Given the description of an element on the screen output the (x, y) to click on. 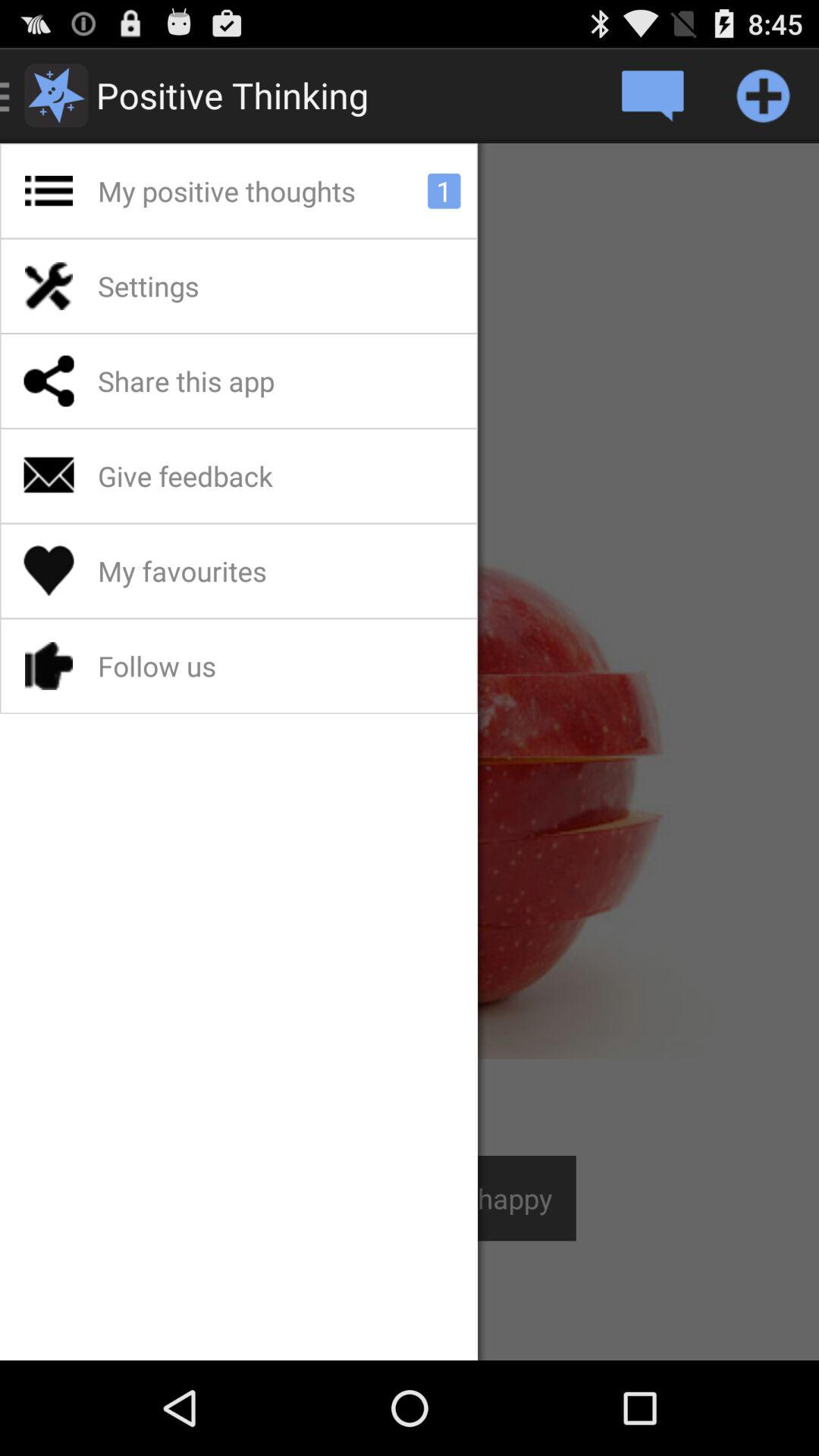
add new entry to my positive thoughts (763, 95)
